Given the description of an element on the screen output the (x, y) to click on. 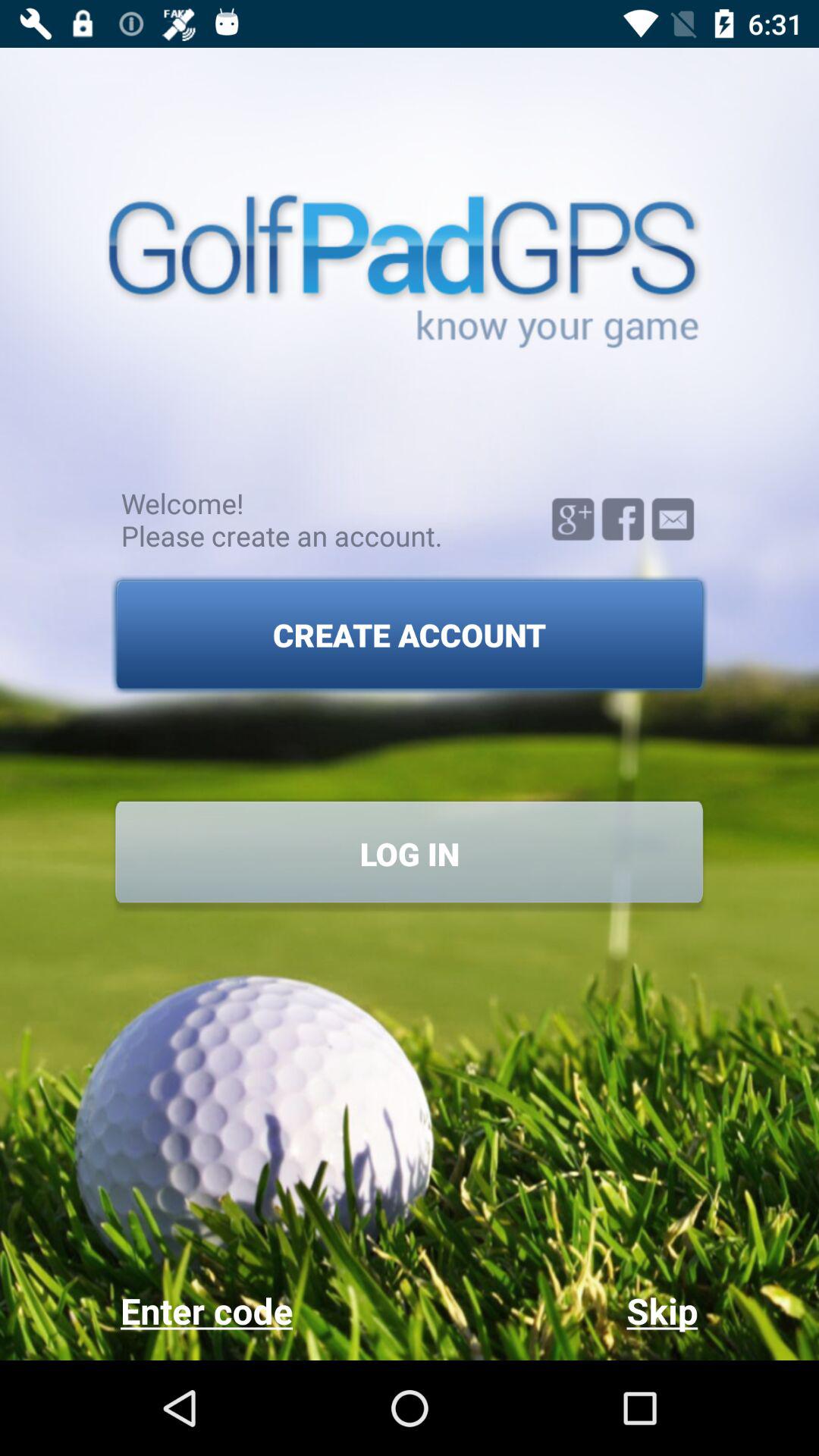
press the item next to enter code item (552, 1310)
